Given the description of an element on the screen output the (x, y) to click on. 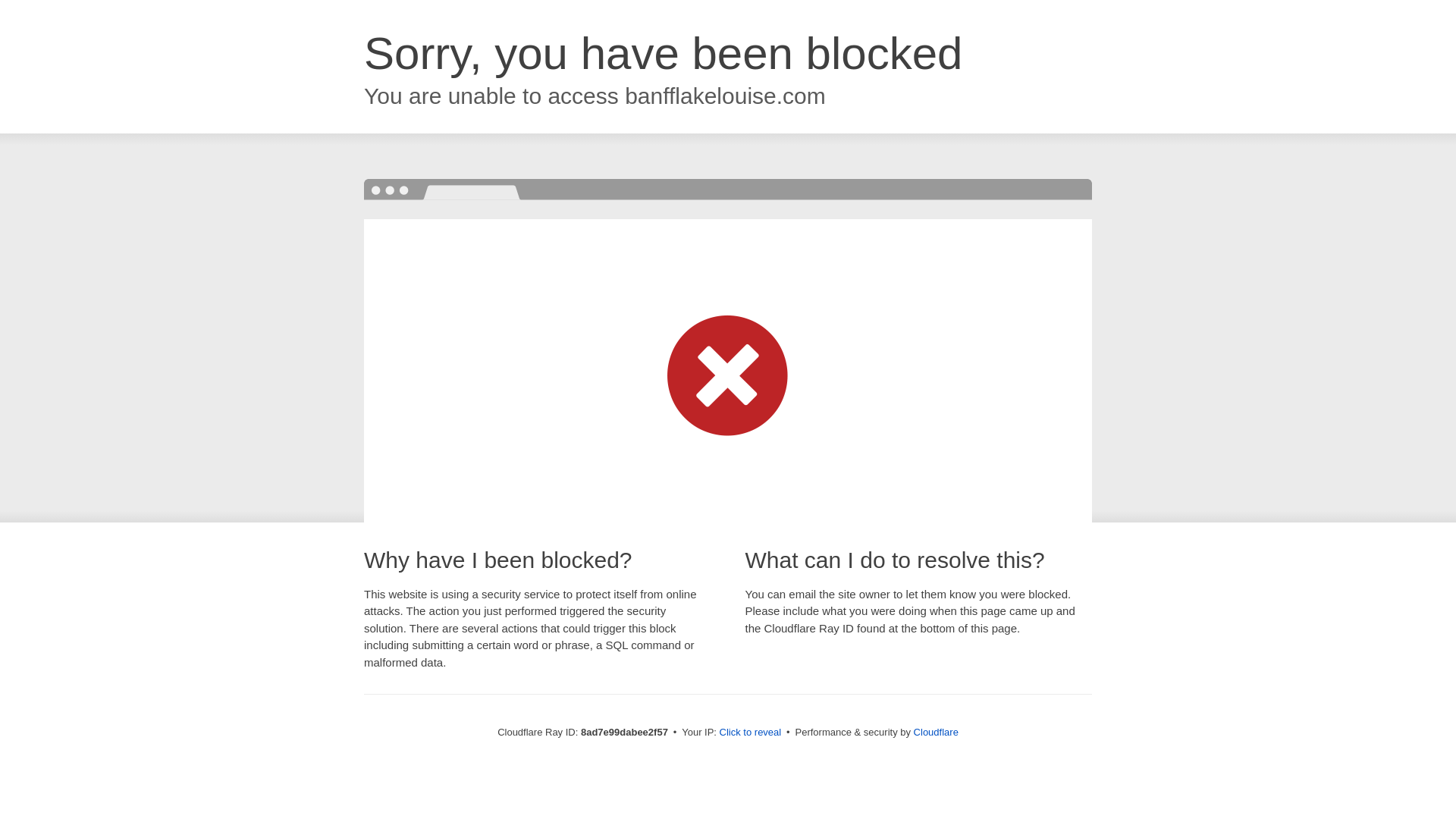
Cloudflare (936, 731)
Click to reveal (750, 732)
